Given the description of an element on the screen output the (x, y) to click on. 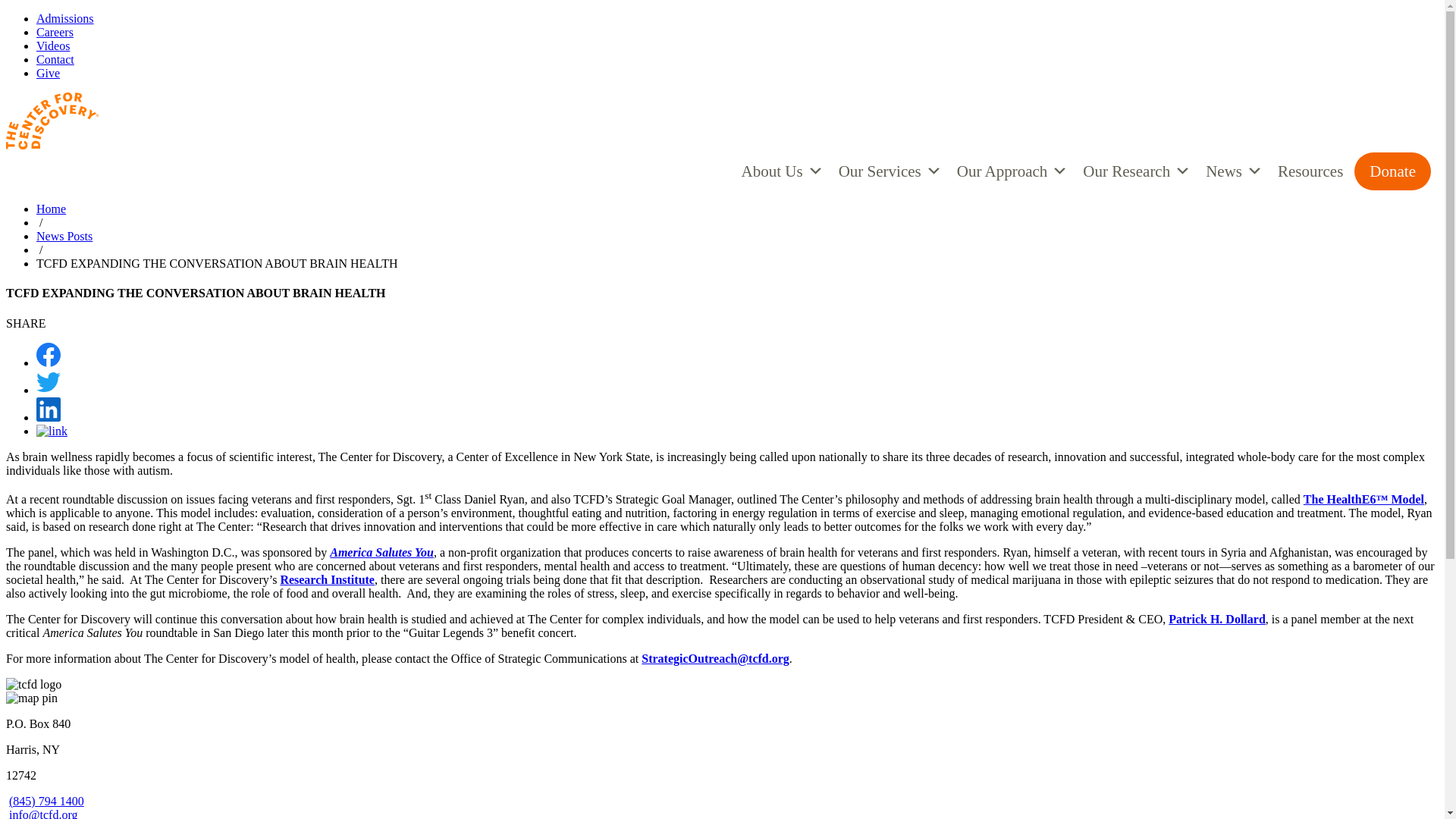
About Us (782, 171)
Videos (52, 45)
Admissions (65, 18)
Contact (55, 59)
Give (47, 72)
Our Services (889, 171)
News Posts (64, 236)
Our Approach (1012, 171)
TCFD EXPANDING THE CONVERSATION ABOUT BRAIN HEALTH (216, 263)
